Given the description of an element on the screen output the (x, y) to click on. 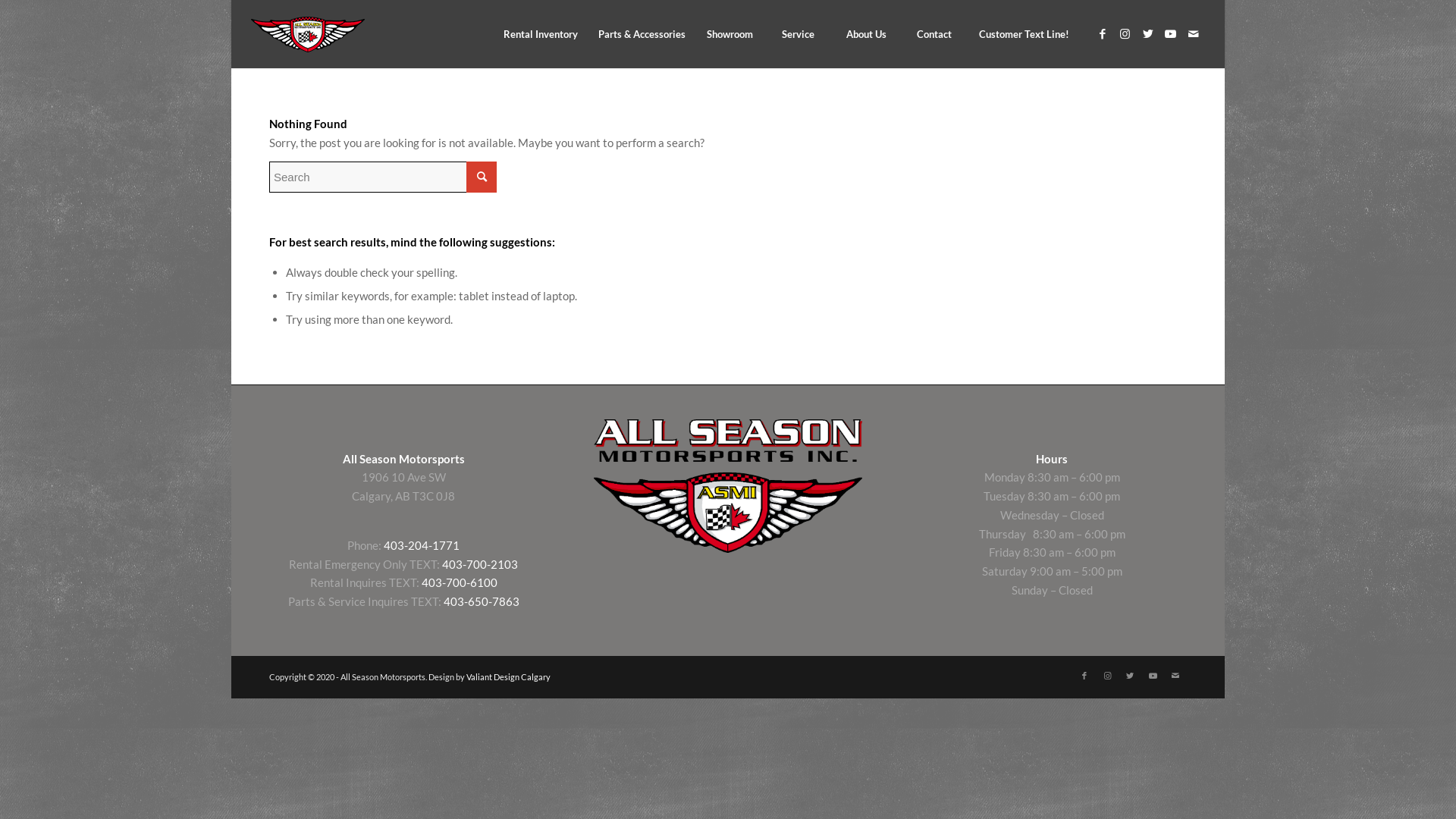
Instagram Element type: hover (1106, 675)
Youtube Element type: hover (1152, 675)
Rental Inventory Element type: text (539, 34)
403-700-2103 Element type: text (479, 563)
Facebook Element type: hover (1102, 32)
Contact Element type: text (934, 34)
Service Element type: text (797, 34)
Mail Element type: hover (1175, 675)
403-700-6100 Element type: text (459, 582)
Valiant Design Calgary Element type: text (508, 676)
Youtube Element type: hover (1170, 32)
Mail Element type: hover (1193, 32)
logo-allseasonmotorsports-NEW6 Element type: hover (307, 31)
Parts & Accessories Element type: text (641, 34)
Twitter Element type: hover (1147, 32)
Showroom Element type: text (729, 34)
About Us Element type: text (865, 34)
Instagram Element type: hover (1124, 32)
Twitter Element type: hover (1129, 675)
403-204-1771 Element type: text (421, 545)
403-650-7863 Element type: text (481, 601)
Facebook Element type: hover (1084, 675)
Customer Text Line! Element type: text (1023, 34)
